Given the description of an element on the screen output the (x, y) to click on. 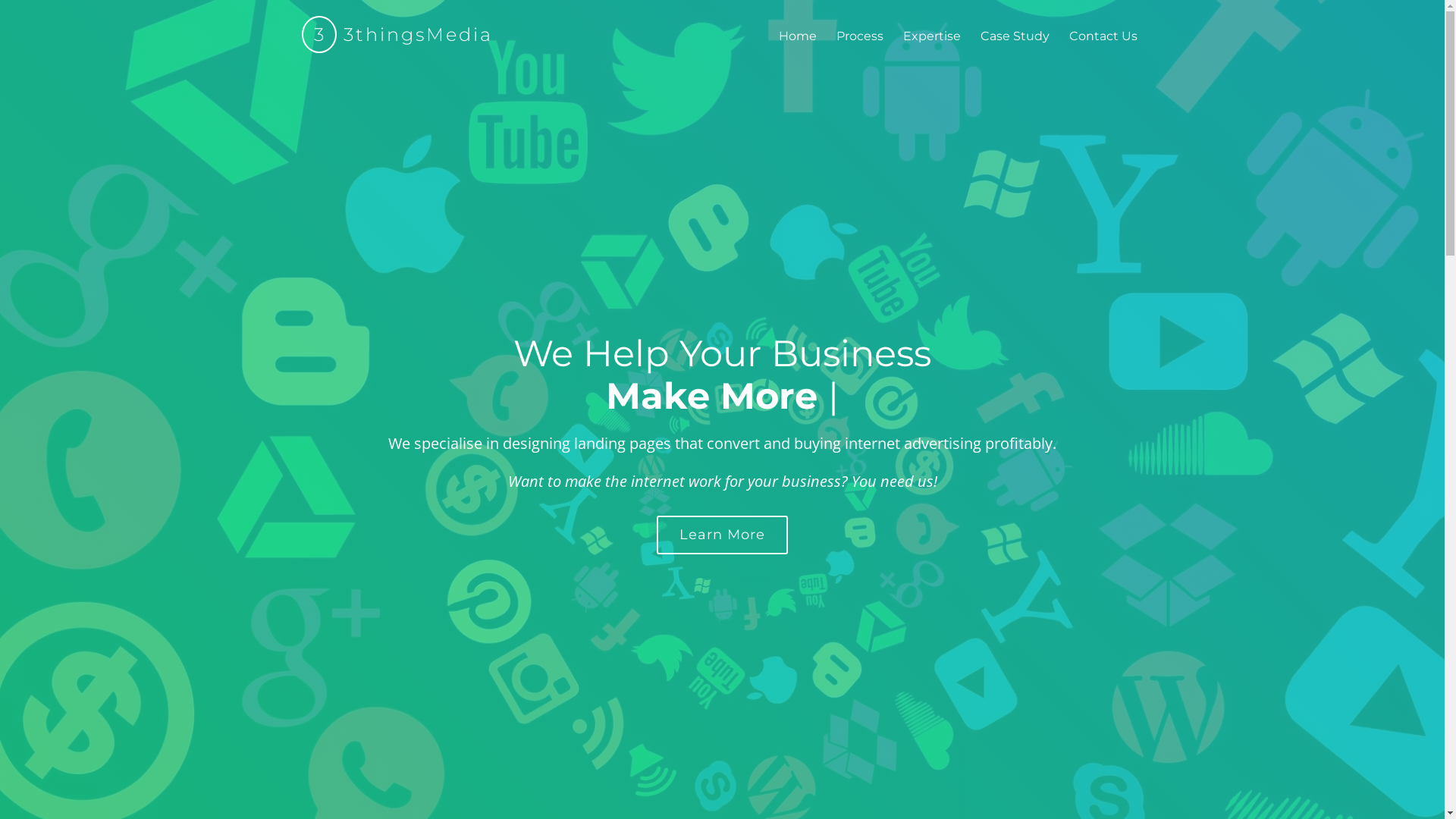
Process Element type: text (858, 37)
Learn More Element type: text (721, 534)
Home Element type: text (796, 37)
Contact Us Element type: text (1103, 37)
Case Study Element type: text (1013, 37)
3thingsMedia Element type: text (414, 34)
Expertise Element type: text (931, 37)
